Given the description of an element on the screen output the (x, y) to click on. 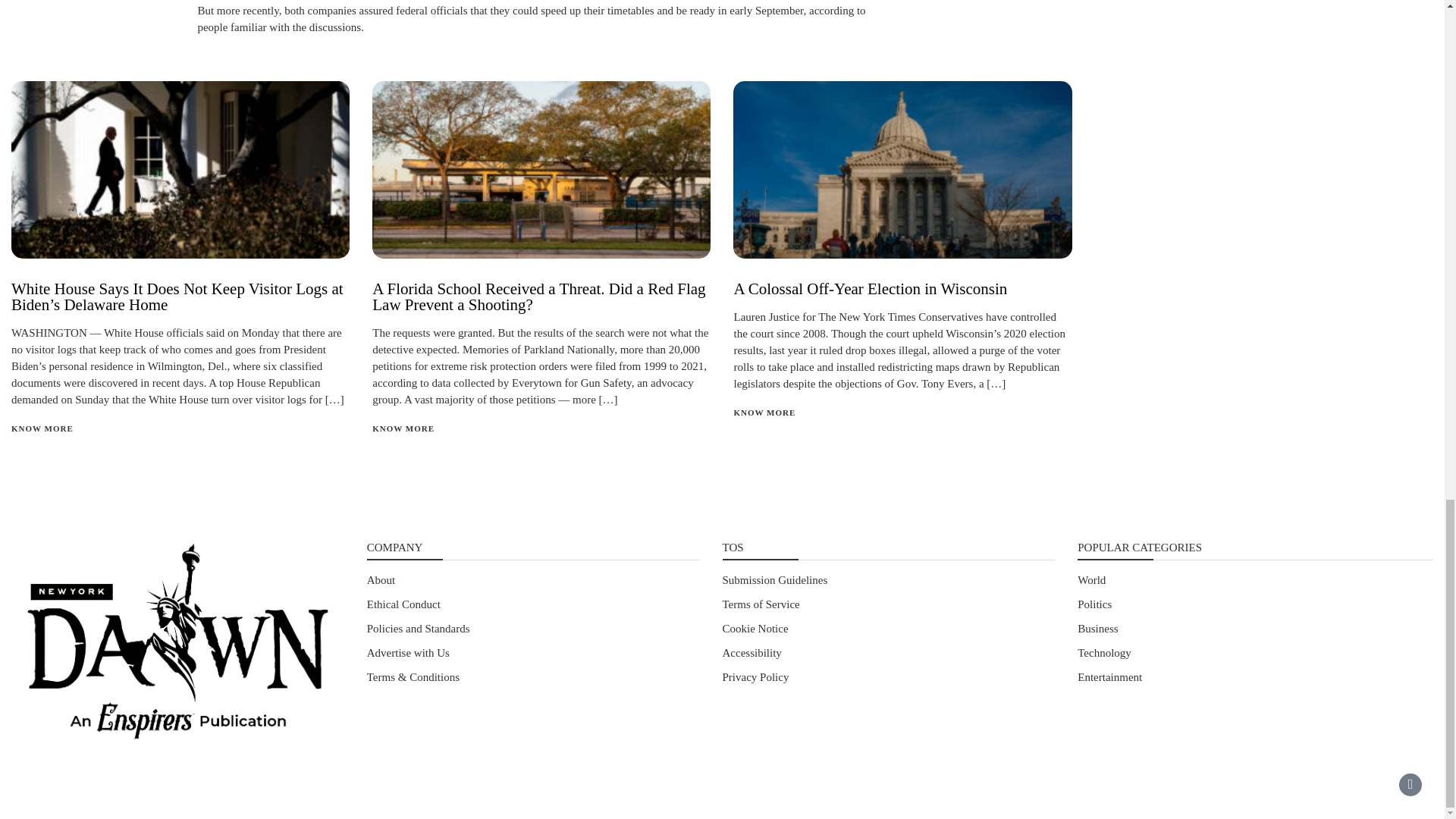
Policies and Standards (418, 628)
KNOW MORE (763, 411)
A Colossal Off-Year Election in Wisconsin (870, 289)
KNOW MORE (42, 428)
KNOW MORE (402, 428)
Terms of Service (760, 604)
About (381, 580)
Ethical Conduct (403, 604)
Advertise with Us (407, 653)
Submission Guidelines (774, 580)
Cookie Notice (754, 628)
Accessibility (751, 653)
